Given the description of an element on the screen output the (x, y) to click on. 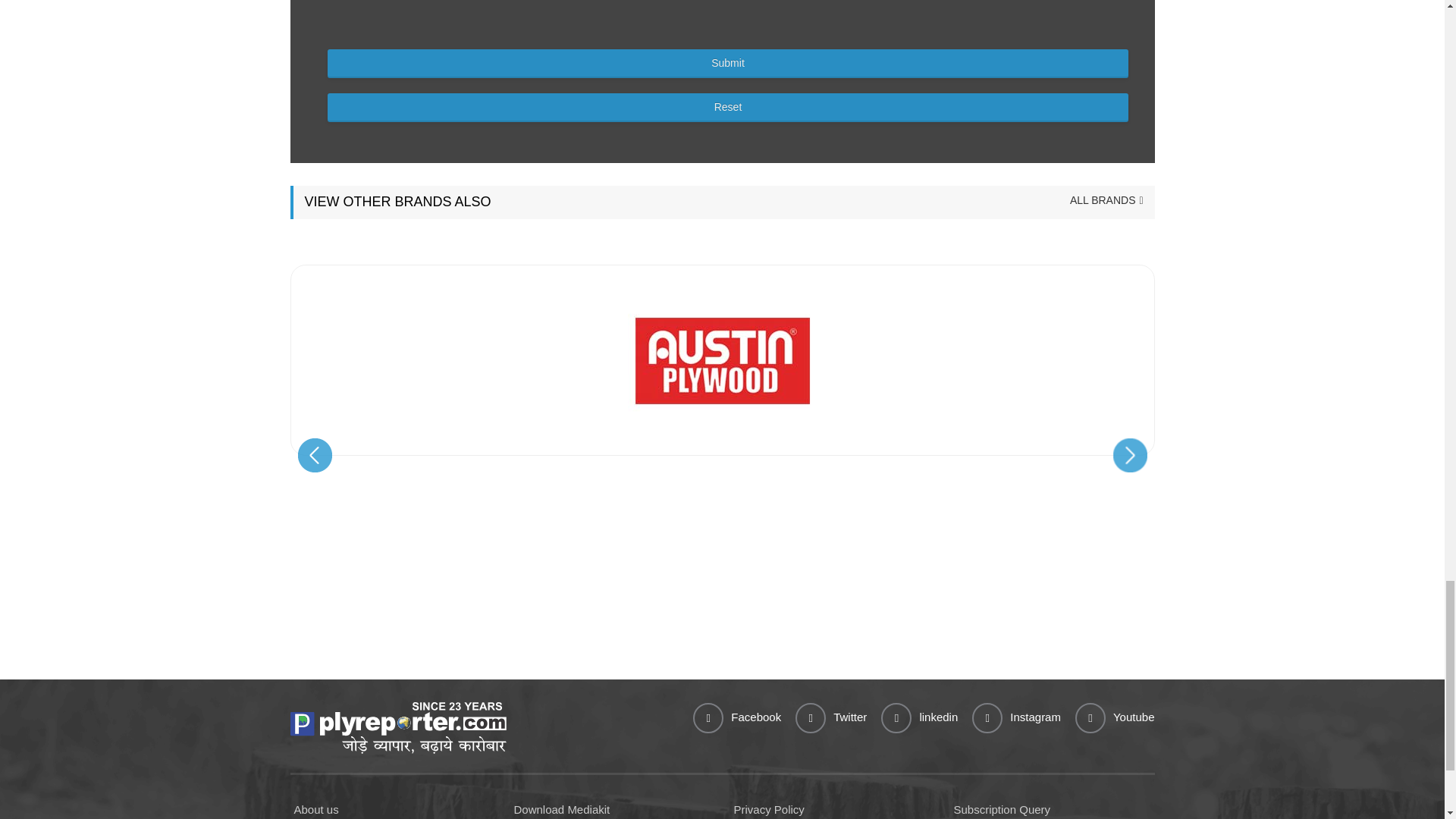
Reset (728, 107)
Submit (728, 63)
